Given the description of an element on the screen output the (x, y) to click on. 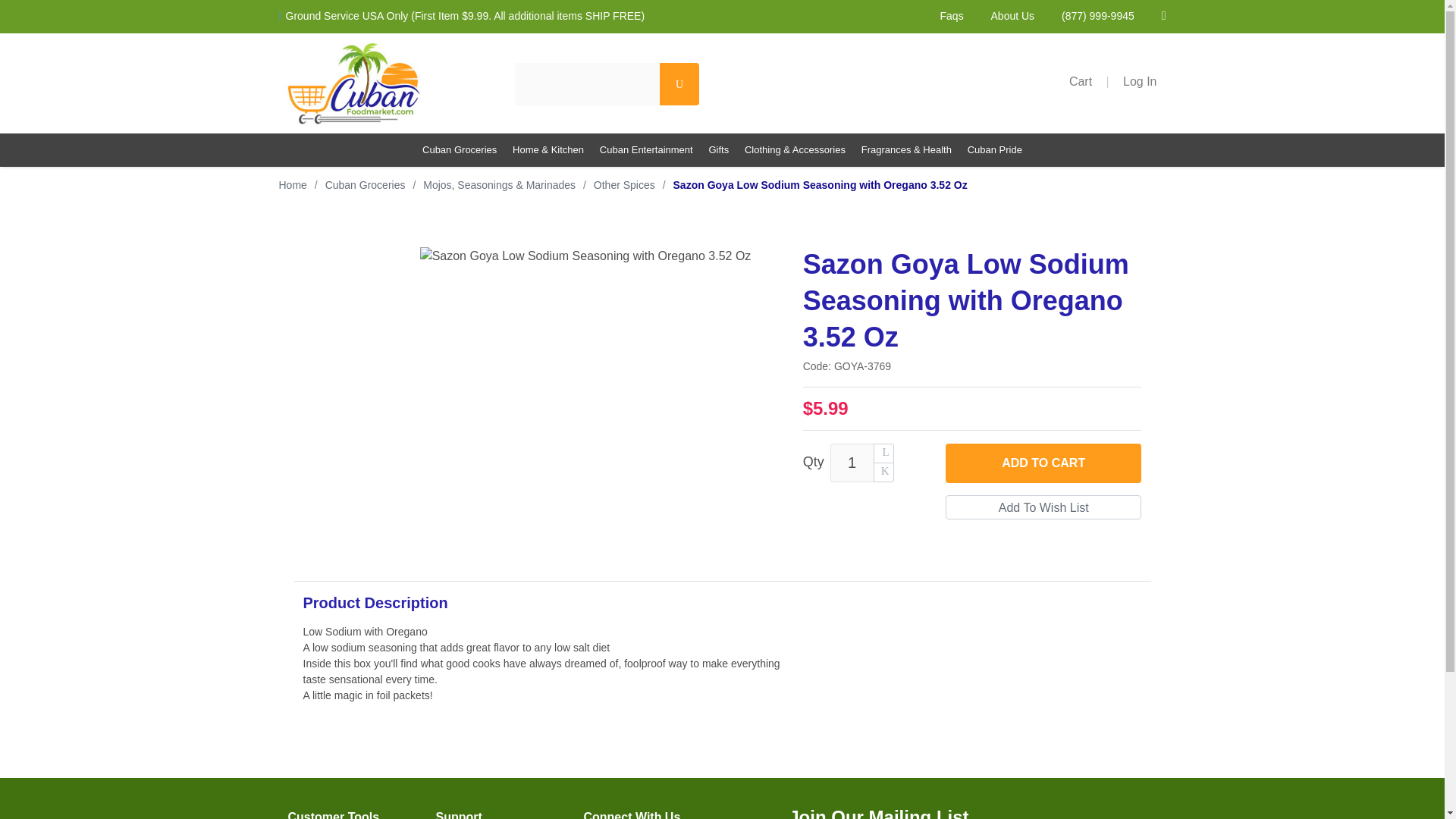
CUBANFOODMARKET.COM (382, 83)
1 (852, 462)
Search (678, 84)
Cuban Food Market (354, 83)
Add To Wish List (1042, 507)
